Given the description of an element on the screen output the (x, y) to click on. 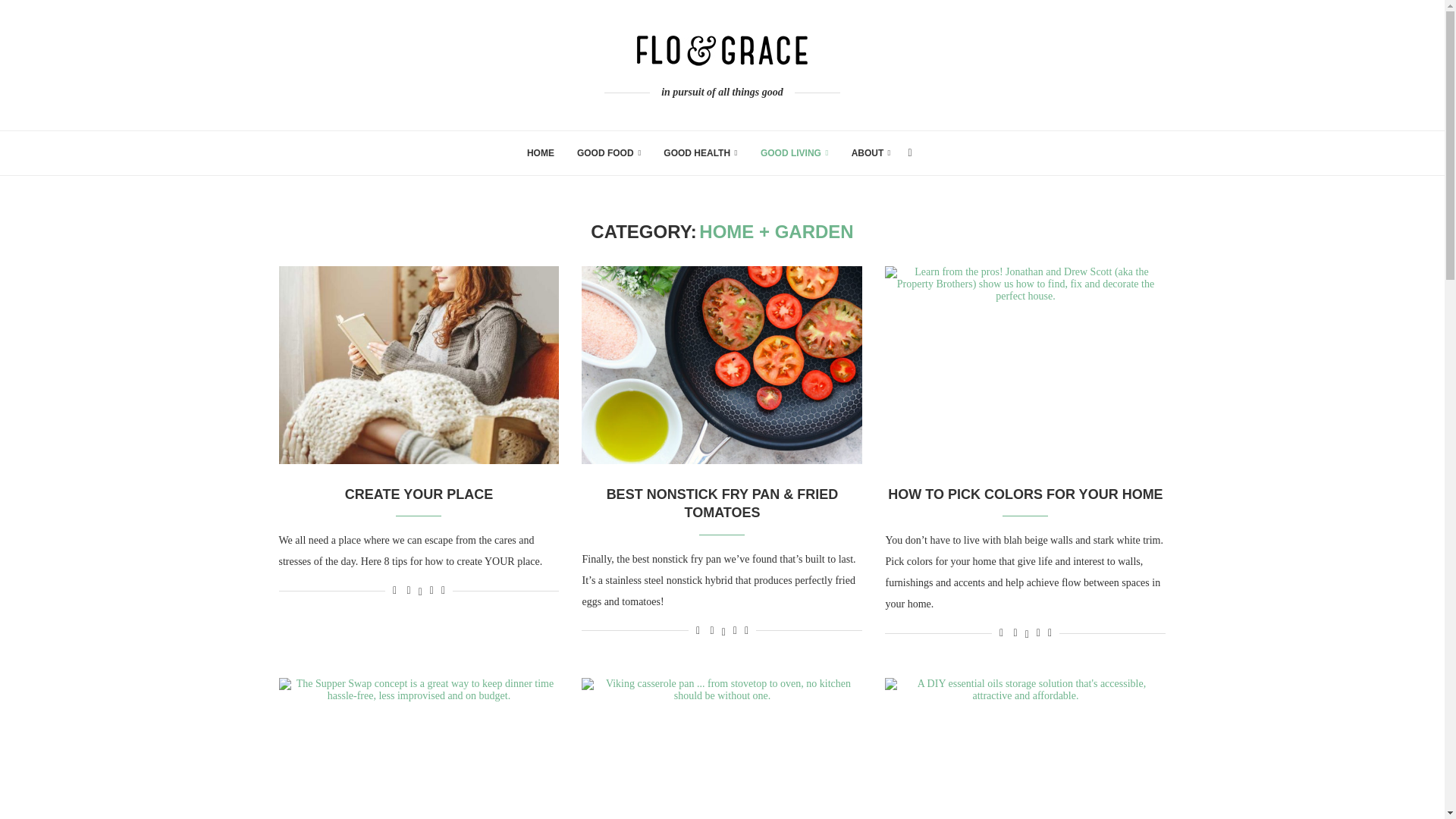
GOOD HEALTH (700, 153)
ABOUT (871, 153)
GOOD LIVING (794, 153)
GOOD FOOD (608, 153)
